Given the description of an element on the screen output the (x, y) to click on. 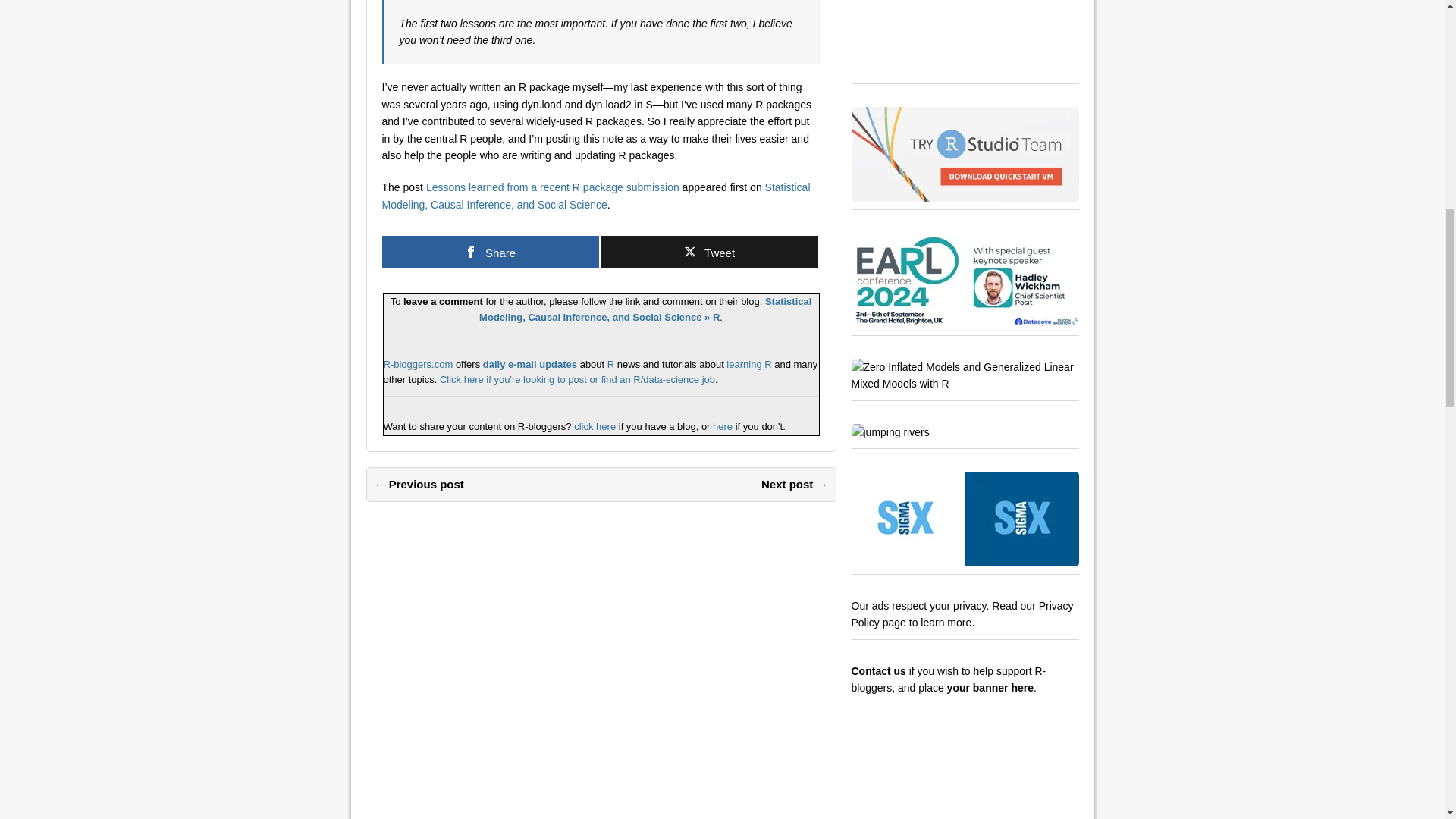
click here (593, 426)
Lessons learned from a recent R package submission (552, 186)
R-bloggers.com (418, 364)
Share (489, 251)
Statistical Modeling, Causal Inference, and Social Science (595, 194)
daily e-mail updates (529, 364)
R tutorials (748, 364)
here (722, 426)
learning R (748, 364)
Data science jobs (576, 378)
